Given the description of an element on the screen output the (x, y) to click on. 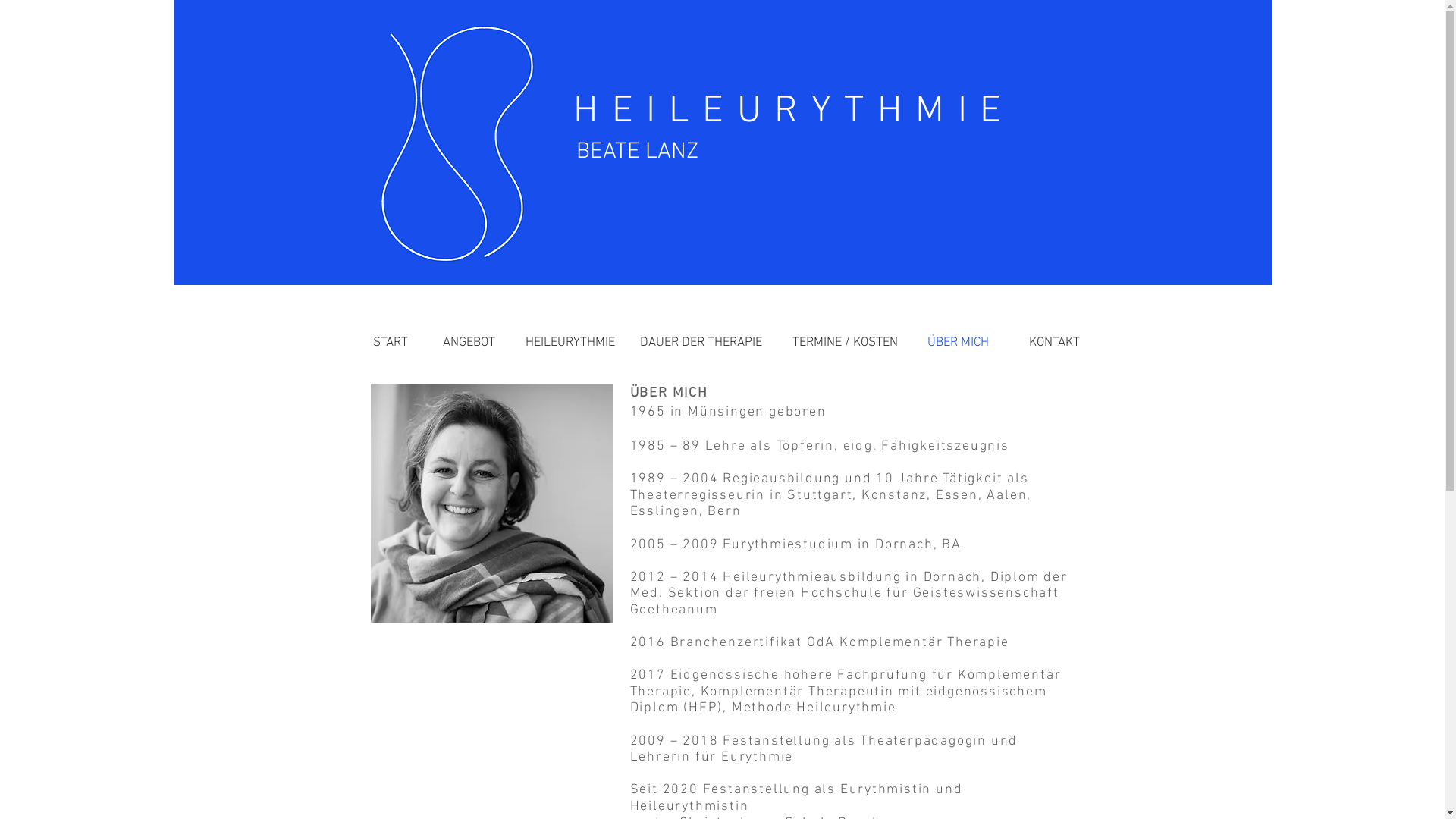
HEILEURYTMIE Element type: text (564, 263)
DAUER DER THERAPIE Element type: text (698, 263)
TERMINE / KOSTEN Element type: text (844, 263)
ANGEBOT Element type: text (468, 343)
TERMINE / KOSTEN Element type: text (845, 343)
START Element type: text (389, 343)
HEILEURYTHMIE Element type: text (569, 343)
ANGEBOT Element type: text (464, 263)
KONTAKT Element type: text (1053, 343)
START Element type: text (385, 263)
KONTAKT Element type: text (1050, 263)
DAUER DER THERAPIE Element type: text (700, 343)
